Given the description of an element on the screen output the (x, y) to click on. 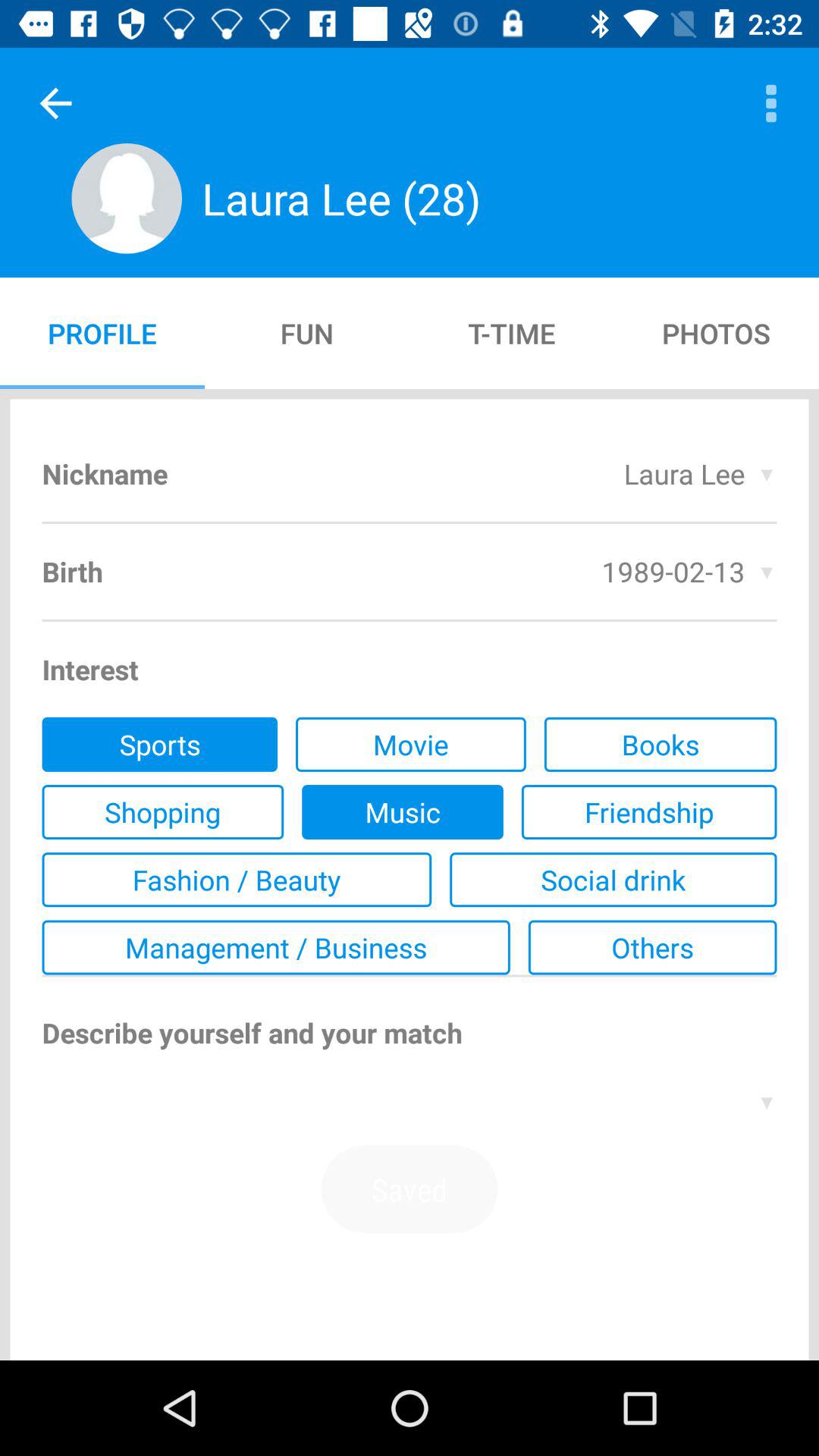
choose the item to the right of the fashion / beauty (612, 879)
